Given the description of an element on the screen output the (x, y) to click on. 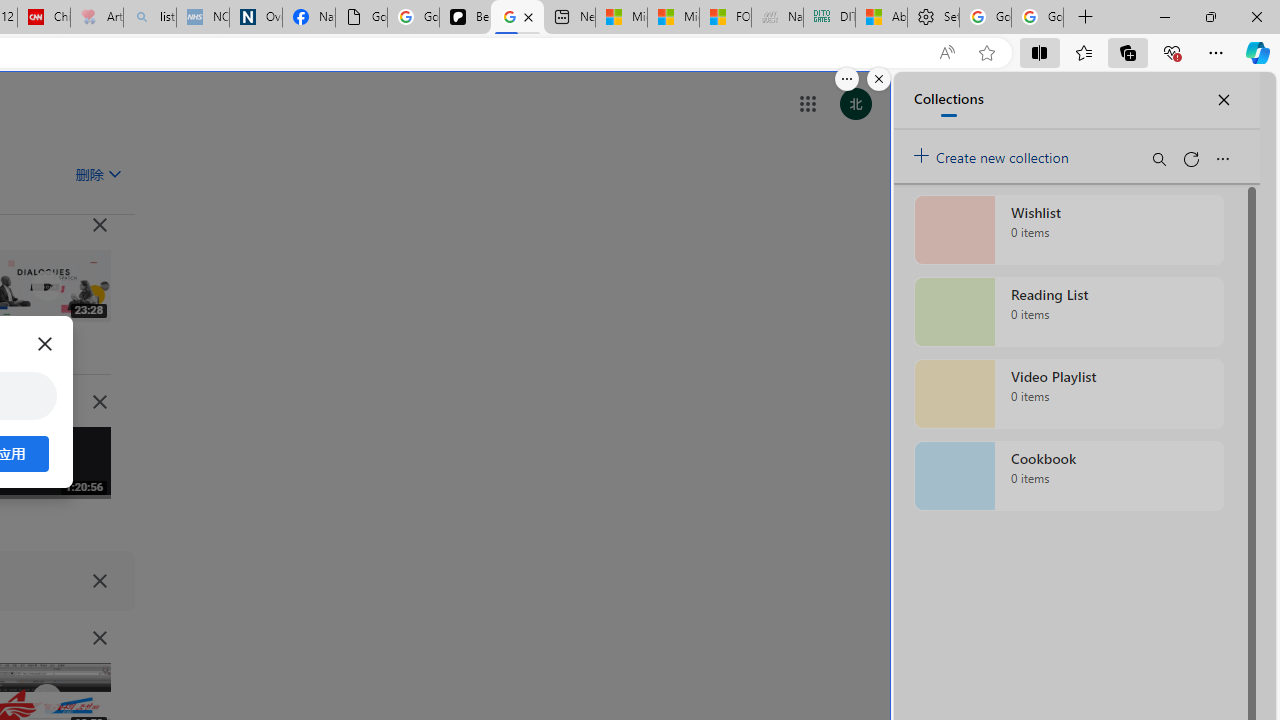
Class: asE2Ub NMm5M (115, 173)
Arthritis: Ask Health Professionals - Sleeping (96, 17)
Class: TjcpUd NMm5M (100, 637)
